Given the description of an element on the screen output the (x, y) to click on. 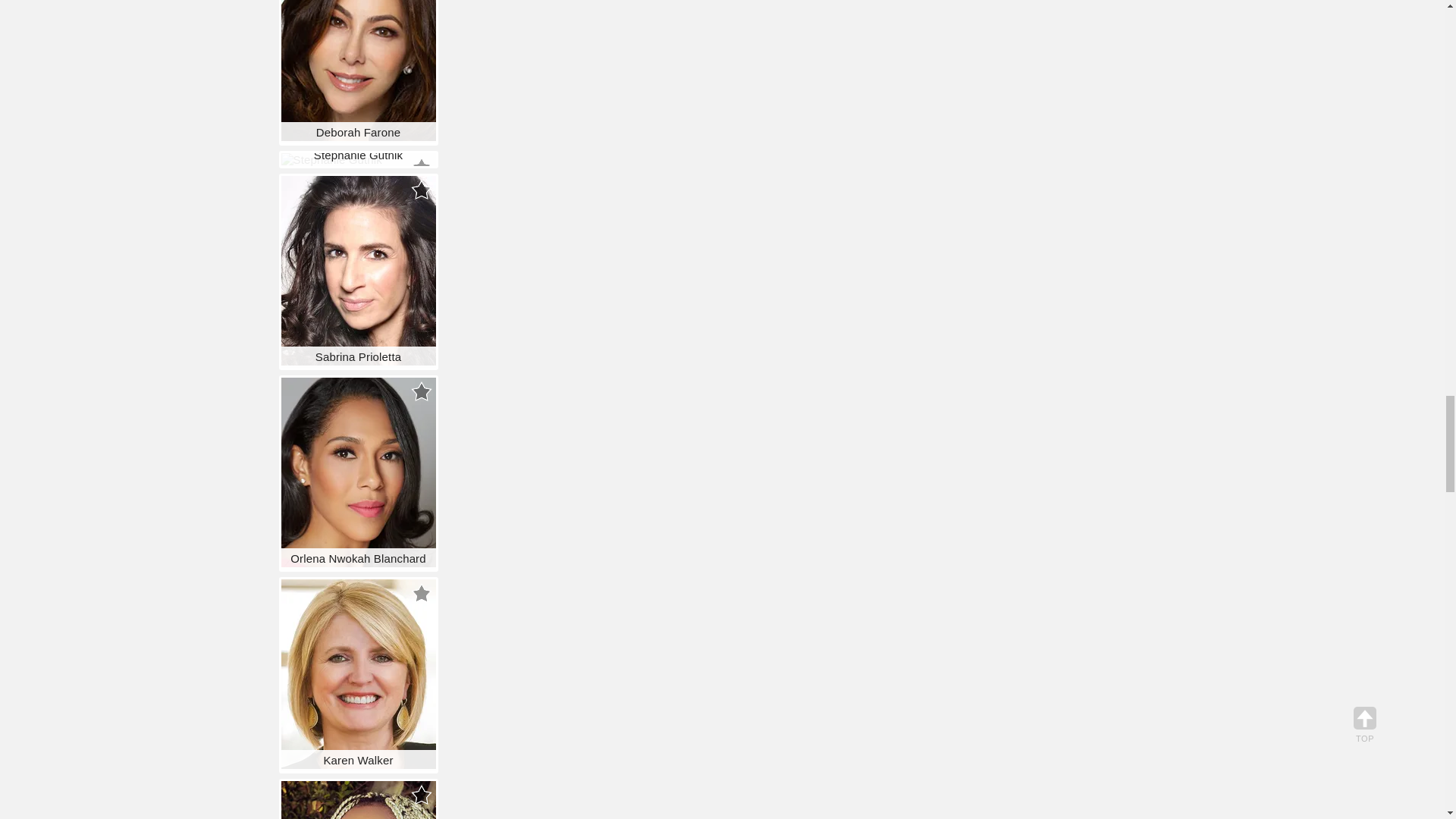
Deborah Farone (358, 70)
